Given the description of an element on the screen output the (x, y) to click on. 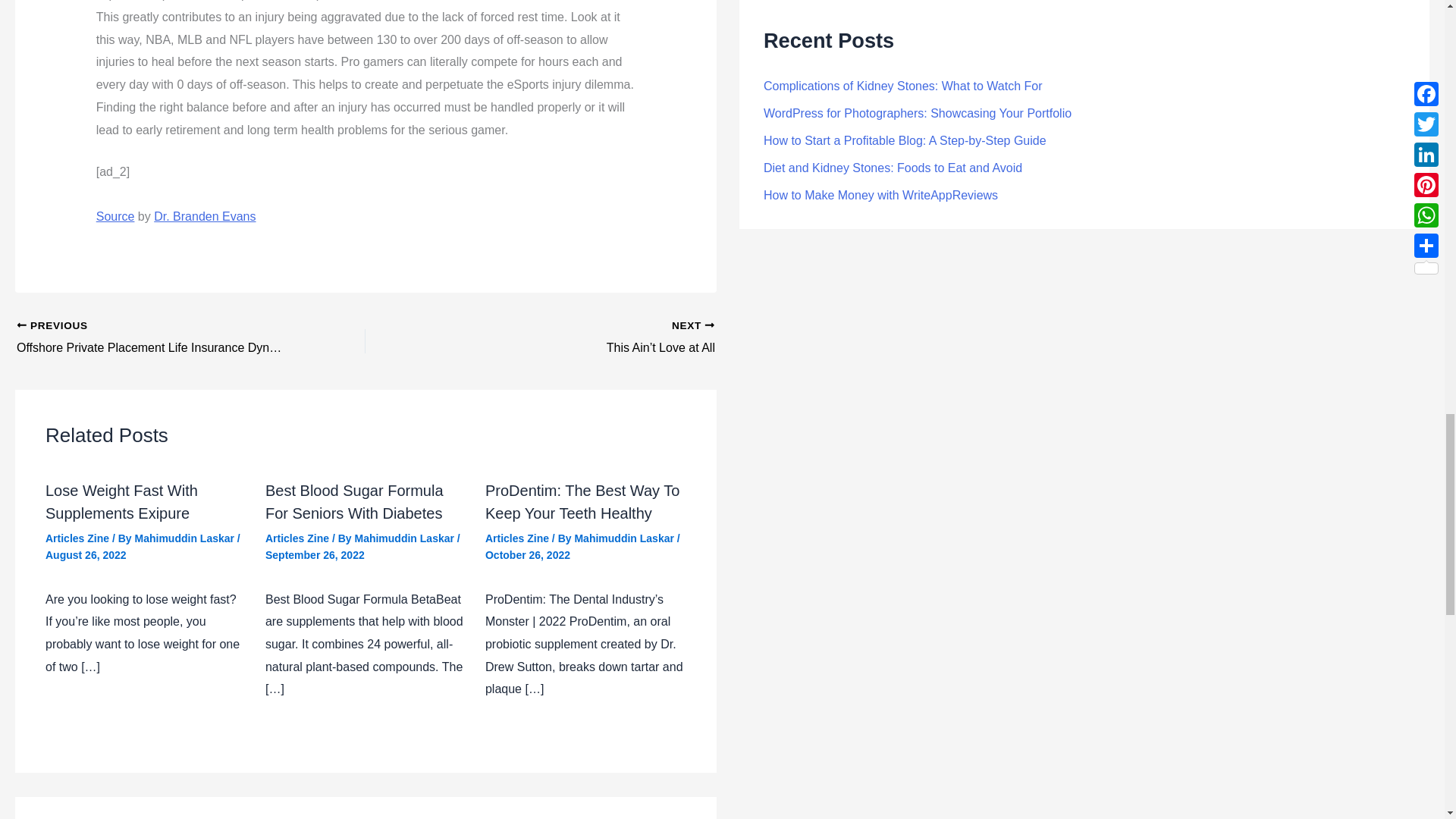
This Ain't Love at All (573, 337)
Best Blood Sugar Formula For Seniors With Diabetes (354, 501)
View all posts by Mahimuddin Laskar (625, 538)
Mahimuddin Laskar (405, 538)
ProDentim: The Best Way To Keep Your Teeth Healthy (581, 501)
View all posts by Mahimuddin Laskar (405, 538)
Source (115, 215)
Lose Weight Fast With Supplements Exipure (121, 501)
Articles Zine (296, 538)
Mahimuddin Laskar (625, 538)
Articles Zine (77, 538)
View all posts by Mahimuddin Laskar (186, 538)
Mahimuddin Laskar (186, 538)
Articles Zine (516, 538)
Dr. Branden Evans (205, 215)
